Given the description of an element on the screen output the (x, y) to click on. 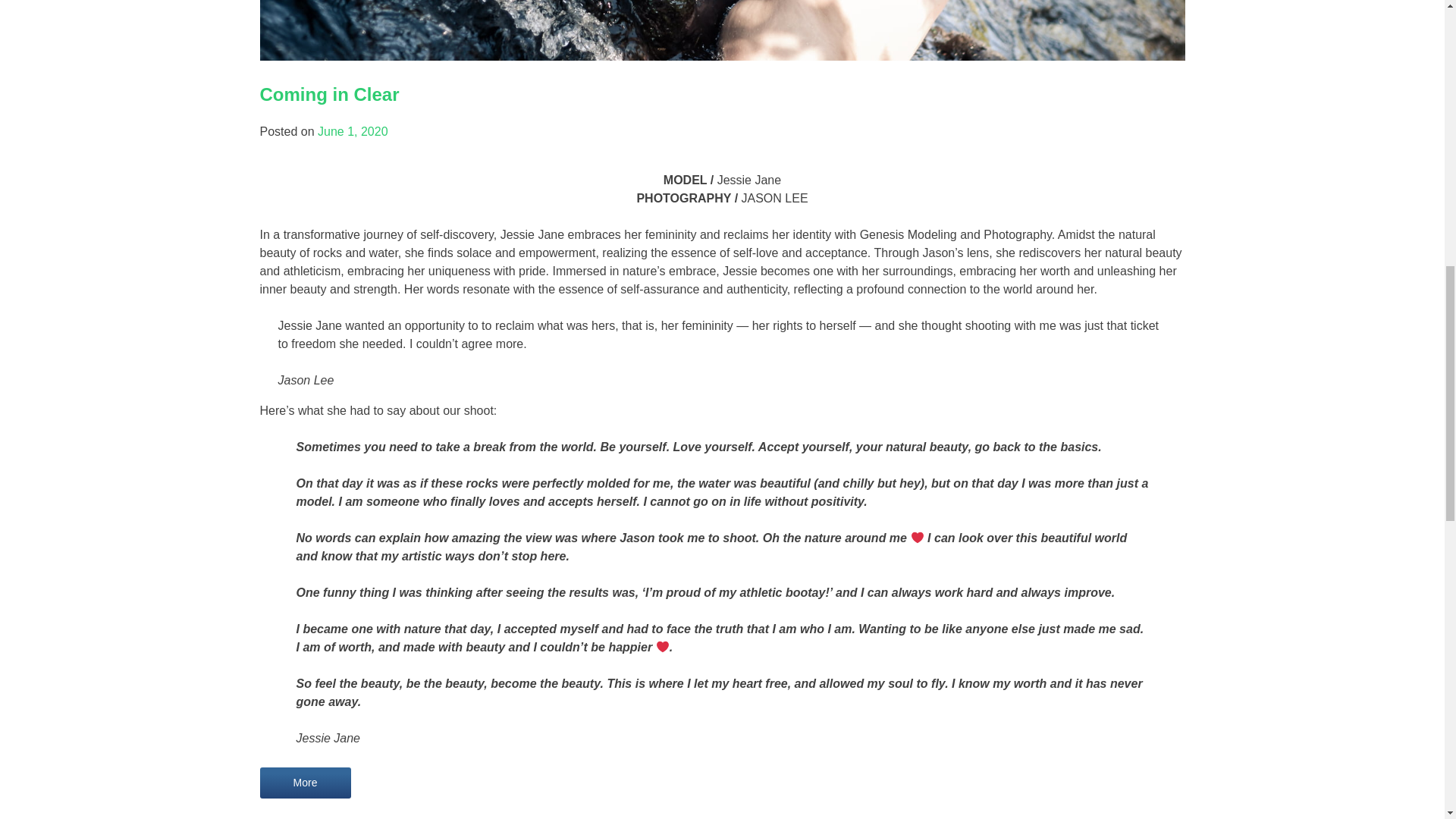
June 1, 2020 (352, 131)
More (304, 782)
Coming in Clear (328, 93)
